Given the description of an element on the screen output the (x, y) to click on. 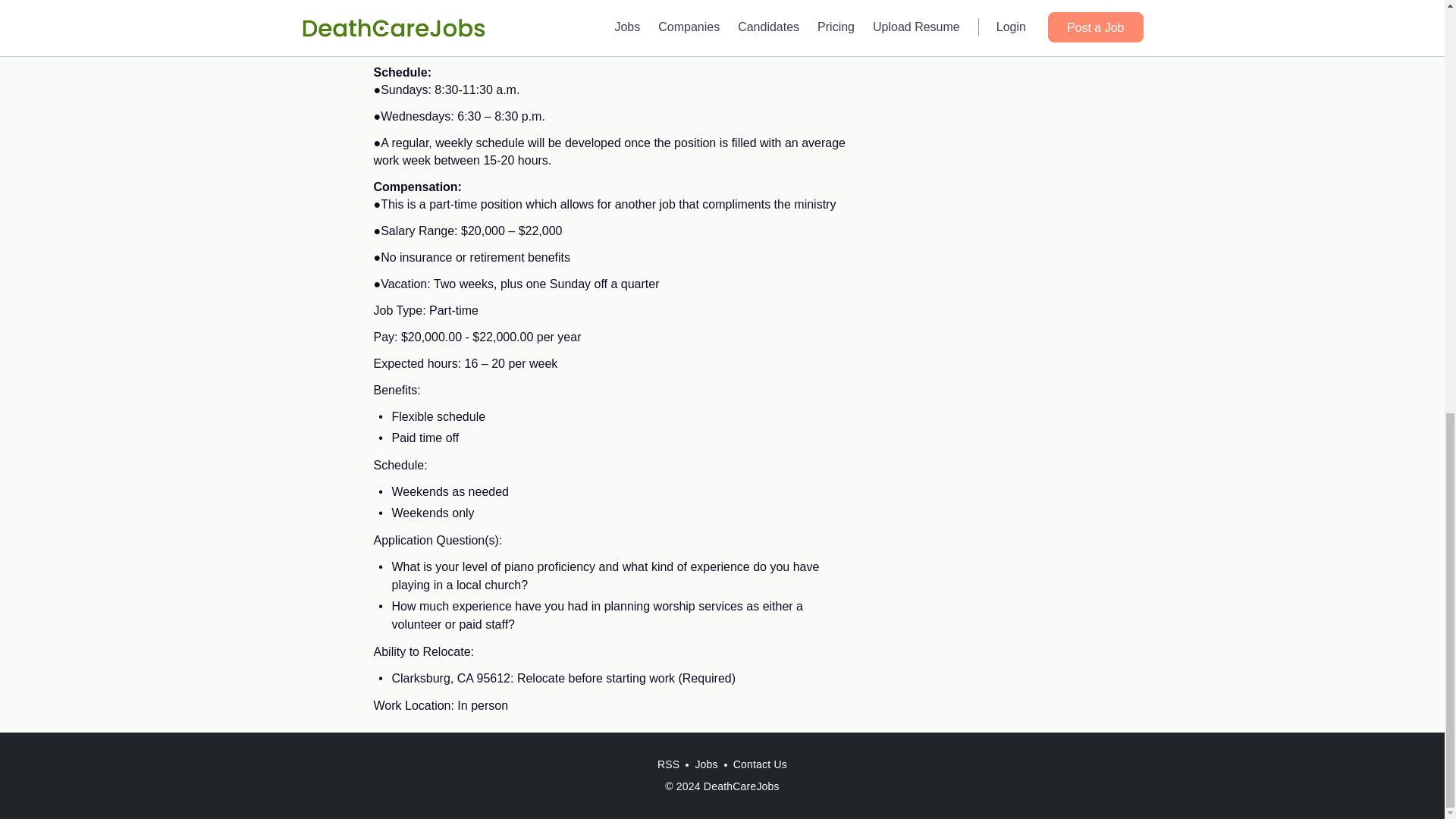
Contact Us (759, 764)
RSS (668, 764)
Jobs (706, 764)
